Given the description of an element on the screen output the (x, y) to click on. 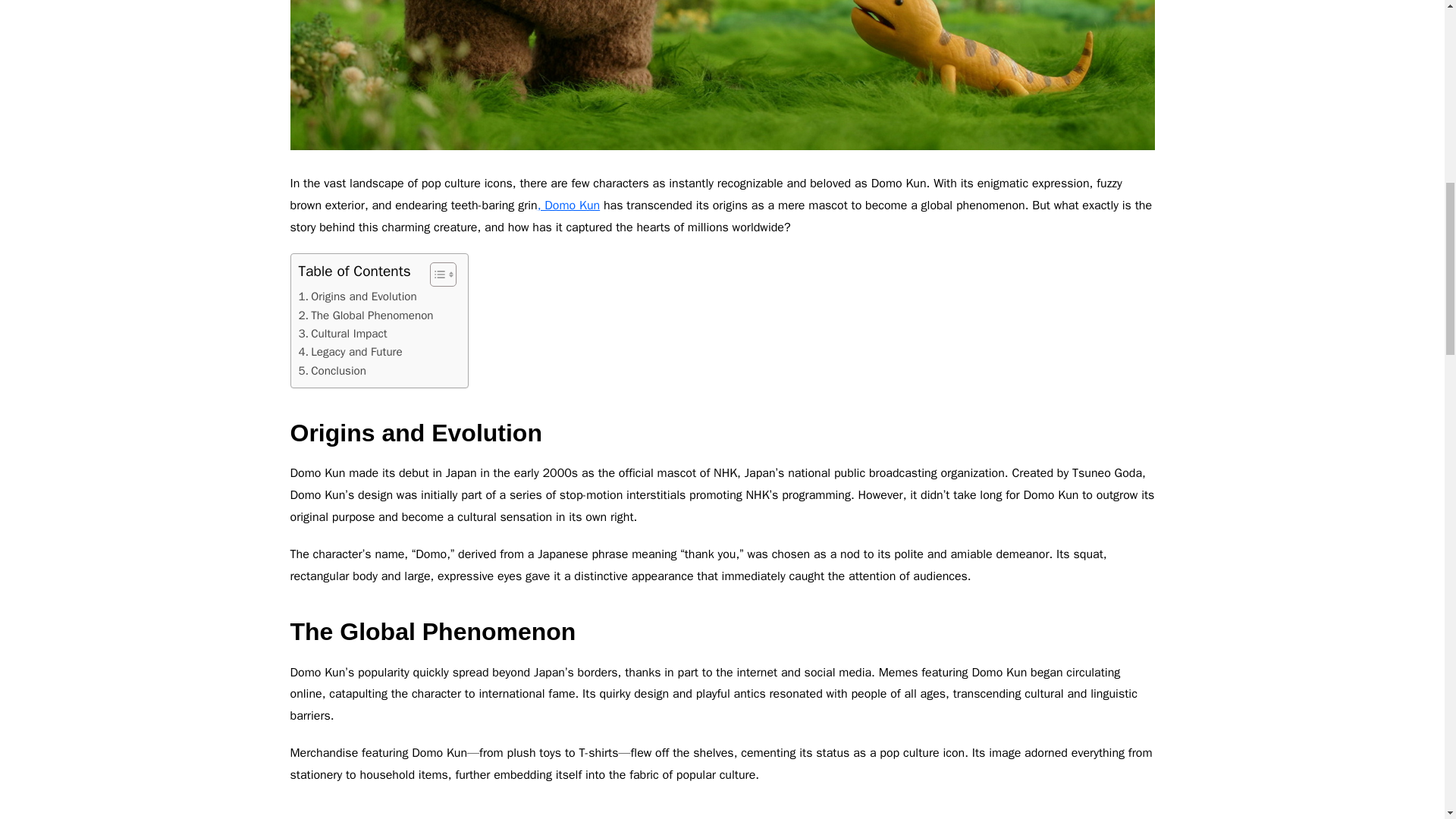
Legacy and Future (350, 352)
Cultural Impact (342, 333)
Origins and Evolution (357, 296)
The Global Phenomenon (365, 315)
Conclusion (332, 370)
